Given the description of an element on the screen output the (x, y) to click on. 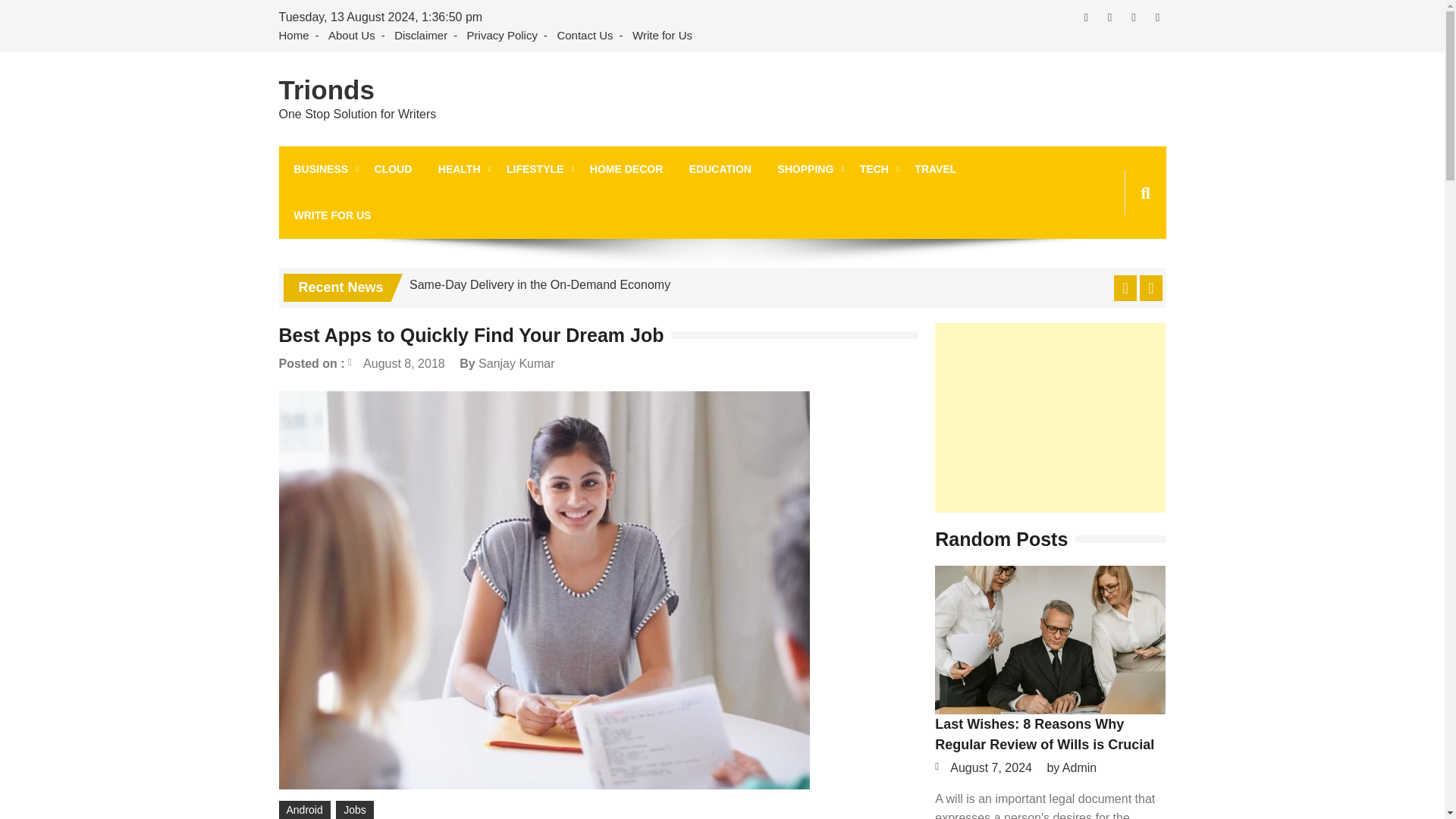
Home (297, 36)
Privacy Policy (502, 36)
About Us (351, 36)
Disclaimer (420, 36)
